Given the description of an element on the screen output the (x, y) to click on. 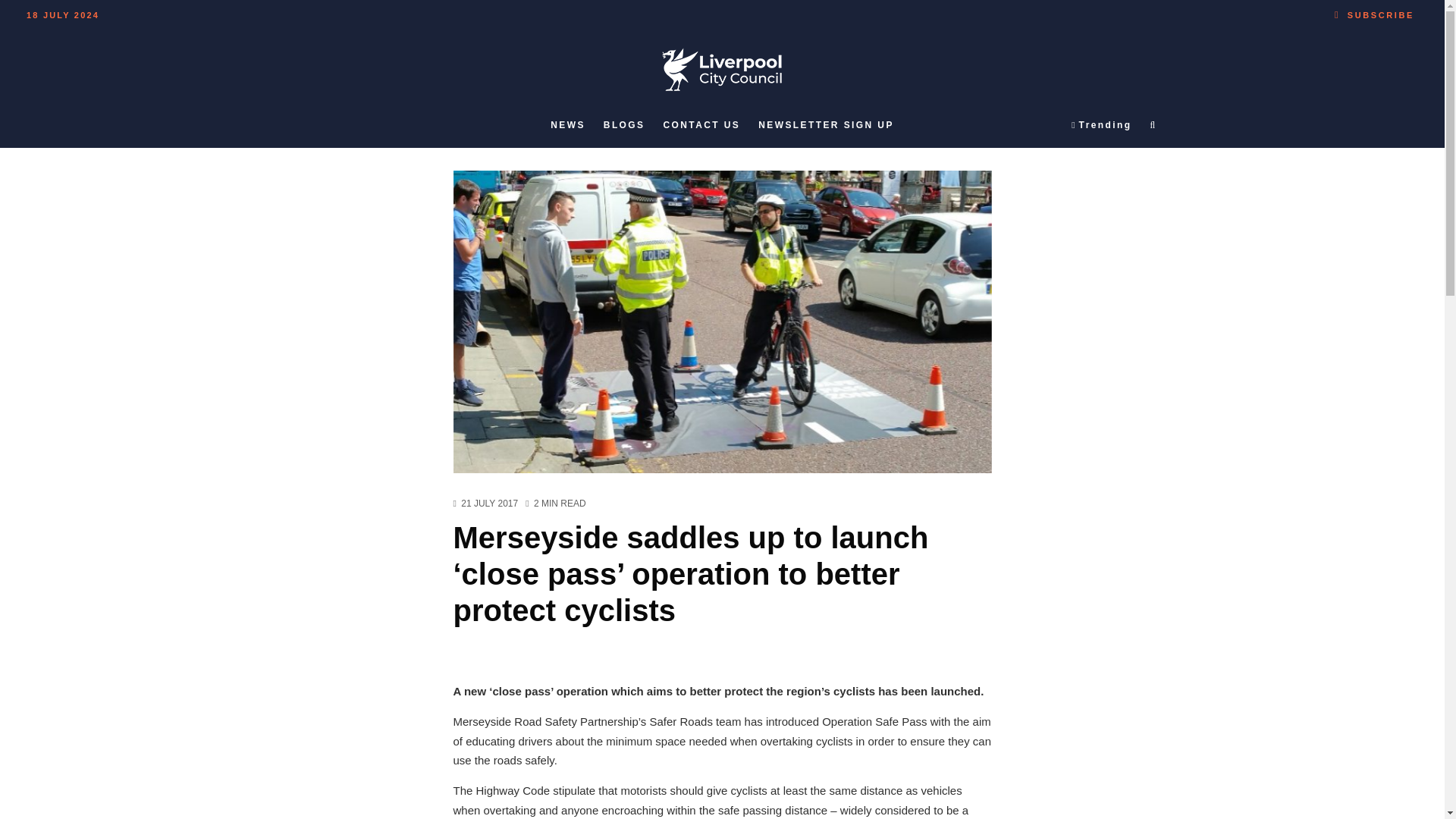
Trending (1101, 125)
BLOGS (623, 125)
SUBSCRIBE (1374, 11)
NEWS (567, 125)
CONTACT US (701, 125)
NEWSLETTER SIGN UP (825, 125)
